Given the description of an element on the screen output the (x, y) to click on. 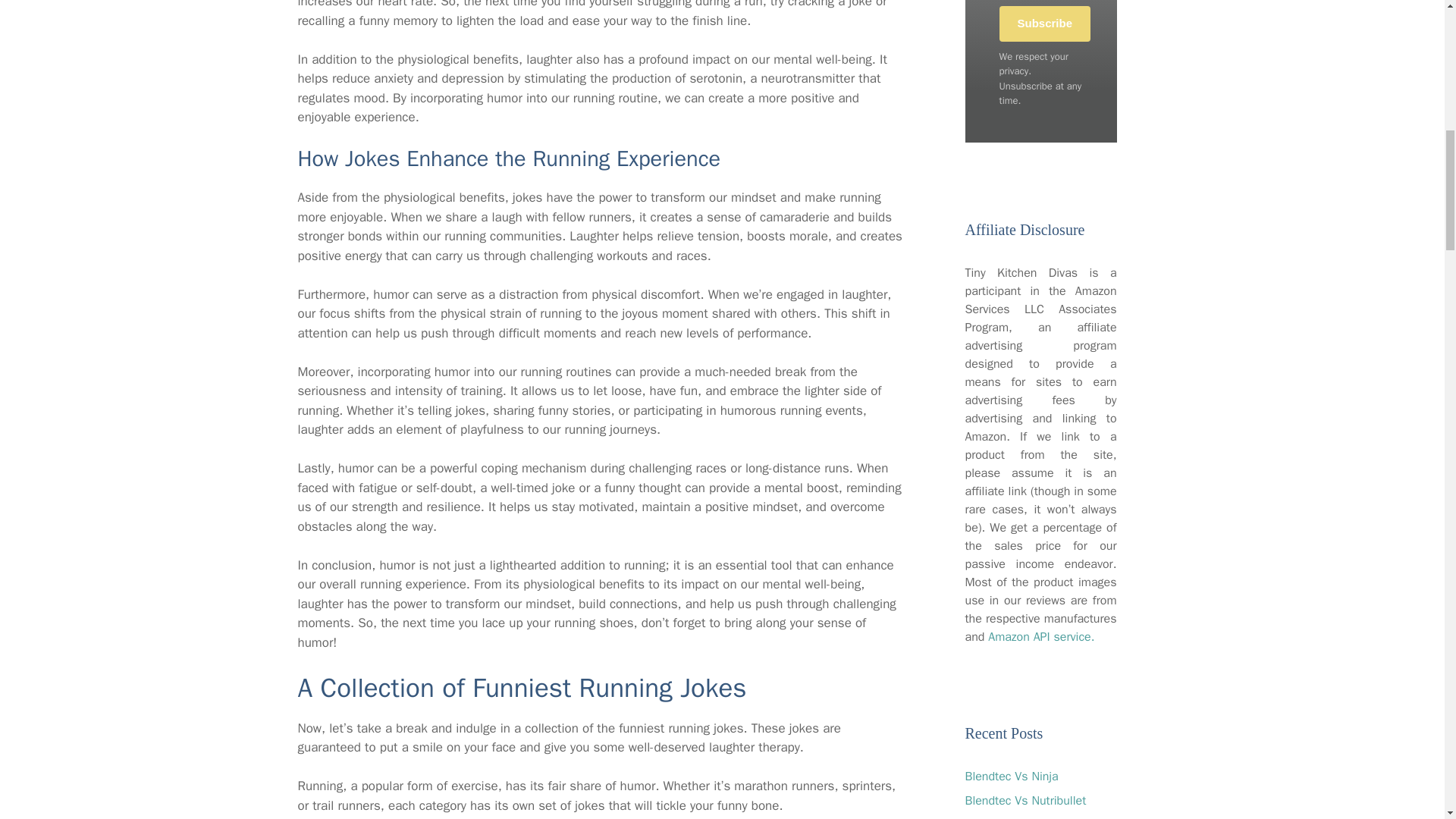
Blendtec Vs Ninja (1010, 776)
Scroll back to top (1406, 720)
Blendtec Vs Nutribullet (1024, 800)
Amazon API service. (1041, 636)
Subscribe (1044, 23)
